Given the description of an element on the screen output the (x, y) to click on. 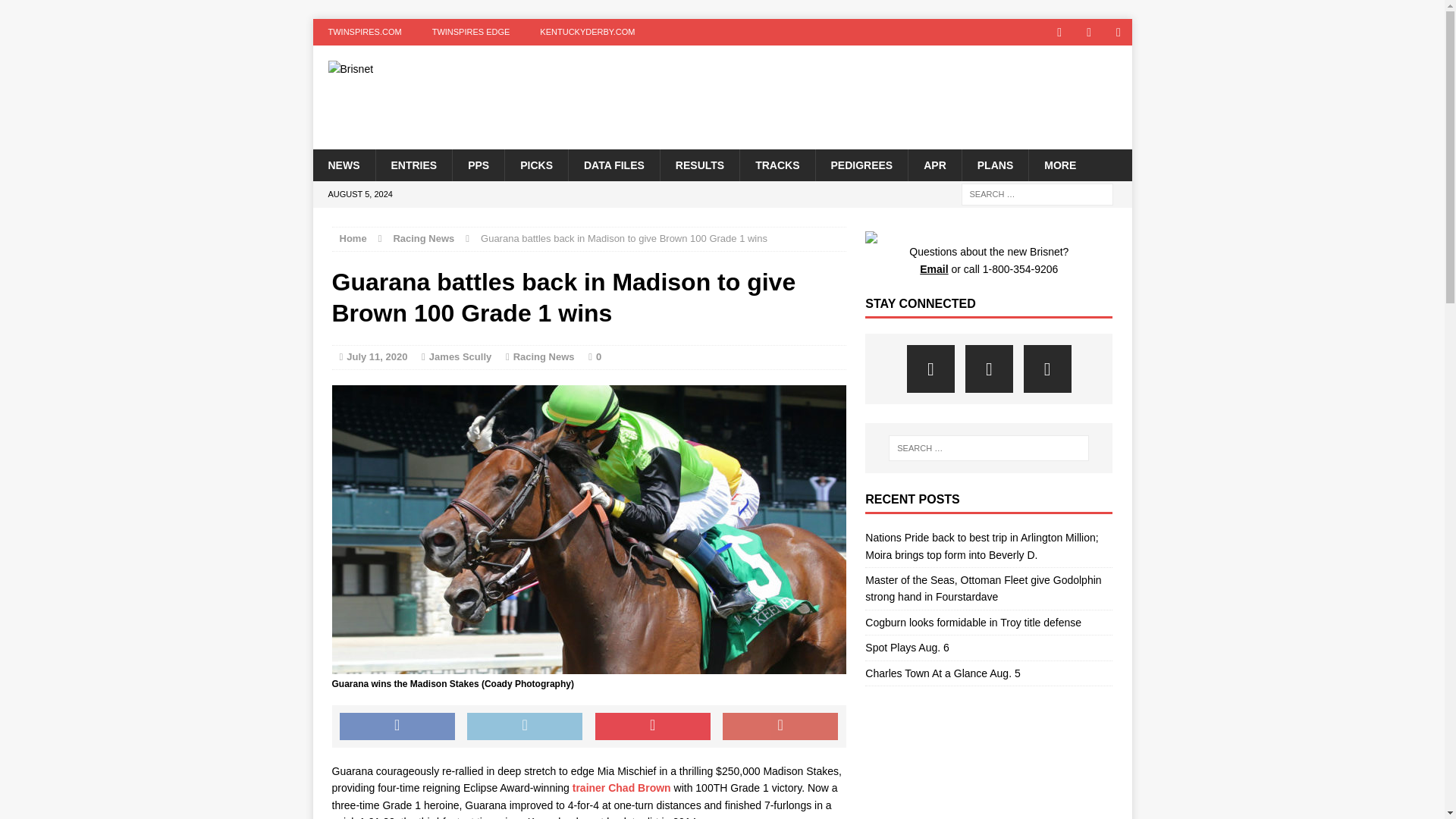
TWINSPIRES EDGE (470, 31)
TWINSPIRES.COM (364, 31)
Tweet This Post (524, 726)
Share on Facebook (396, 726)
PEDIGREES (860, 164)
TRACKS (776, 164)
DATA FILES (613, 164)
PICKS (535, 164)
RESULTS (699, 164)
KENTUCKYDERBY.COM (586, 31)
PPS (477, 164)
PLANS (993, 164)
MORE (1058, 164)
Brisnet (442, 68)
